Given the description of an element on the screen output the (x, y) to click on. 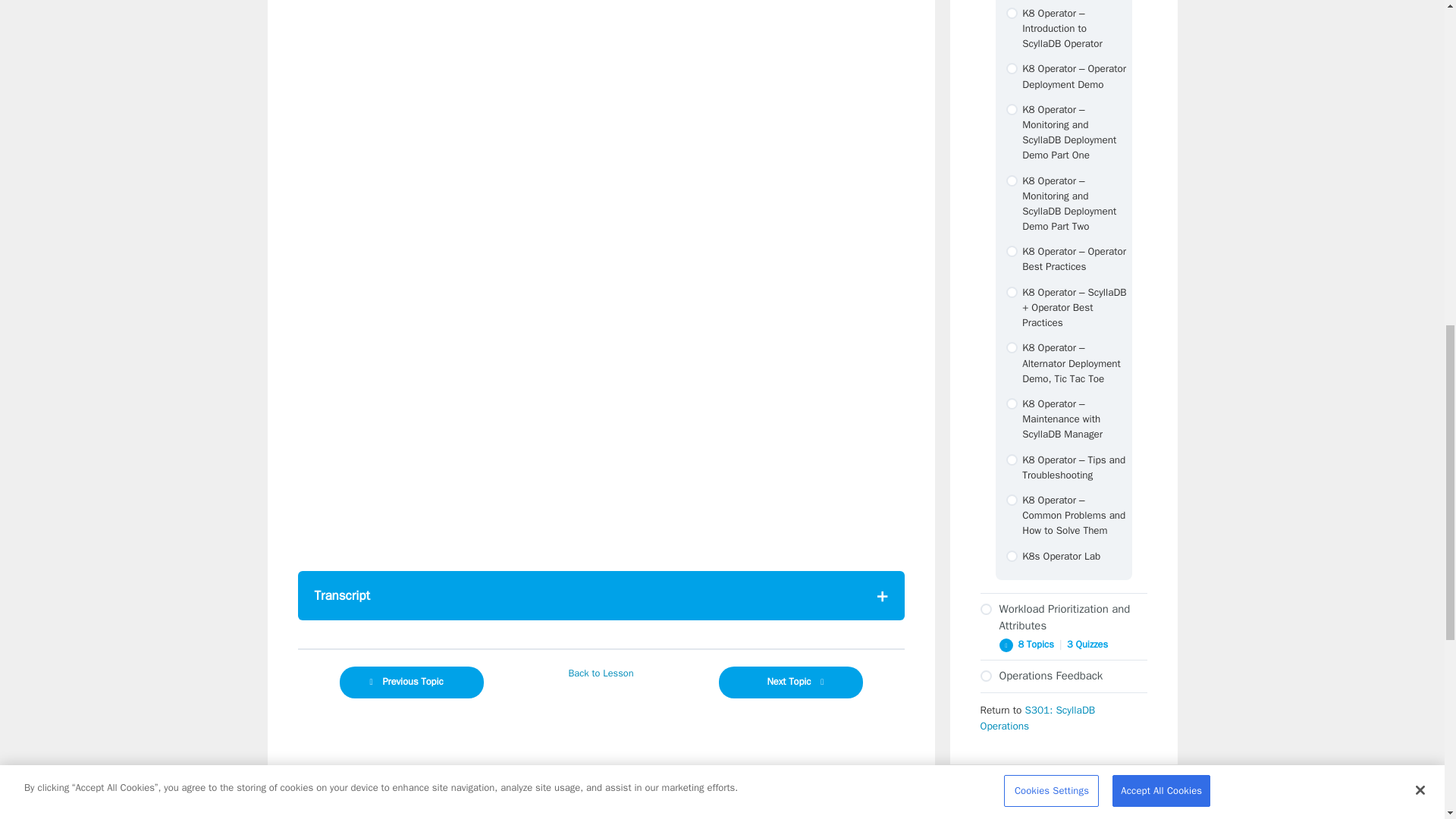
Back to Lesson (600, 673)
Next Topic (791, 681)
Previous Topic (411, 681)
